Given the description of an element on the screen output the (x, y) to click on. 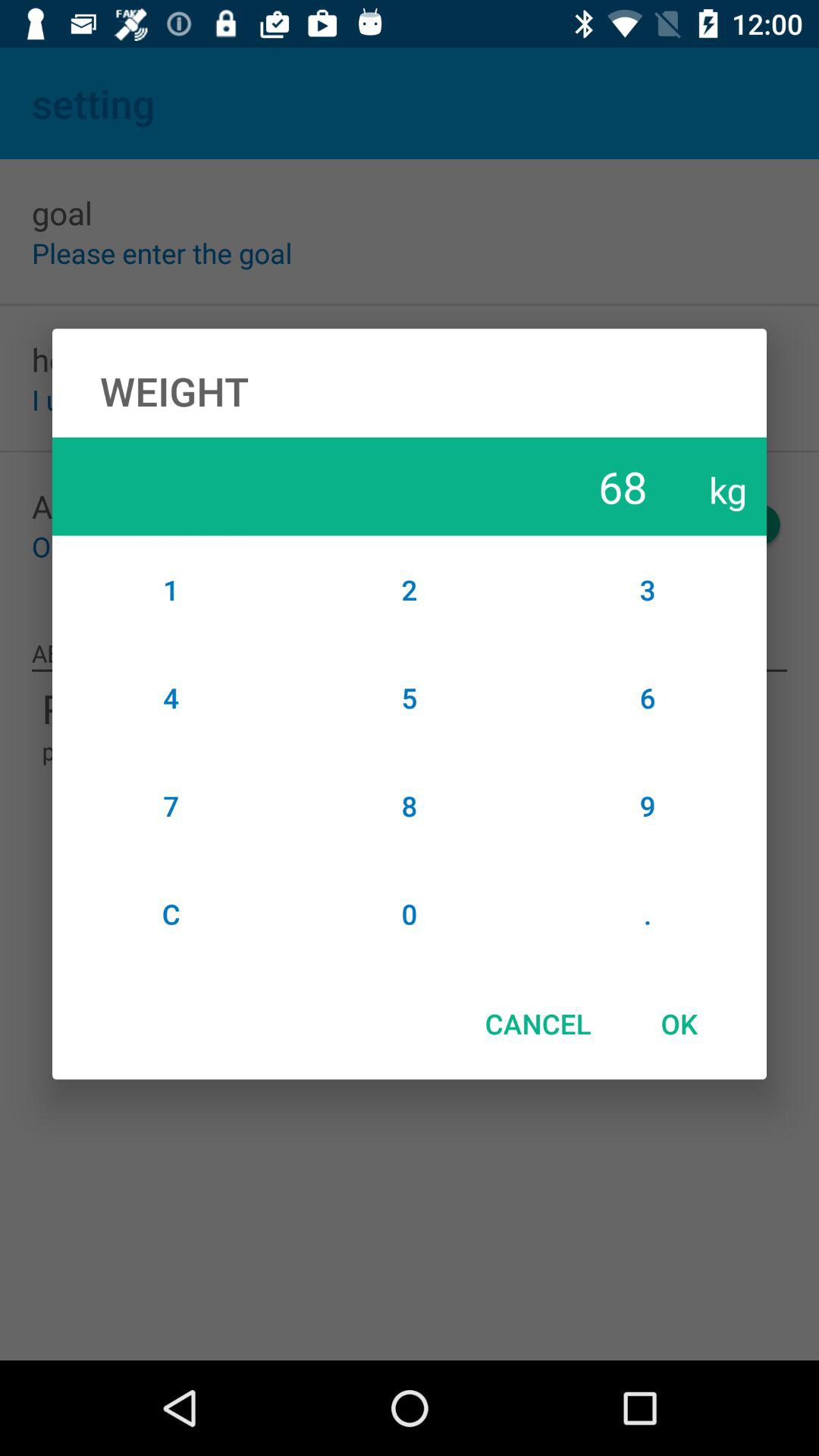
press icon below 3 (647, 697)
